Given the description of an element on the screen output the (x, y) to click on. 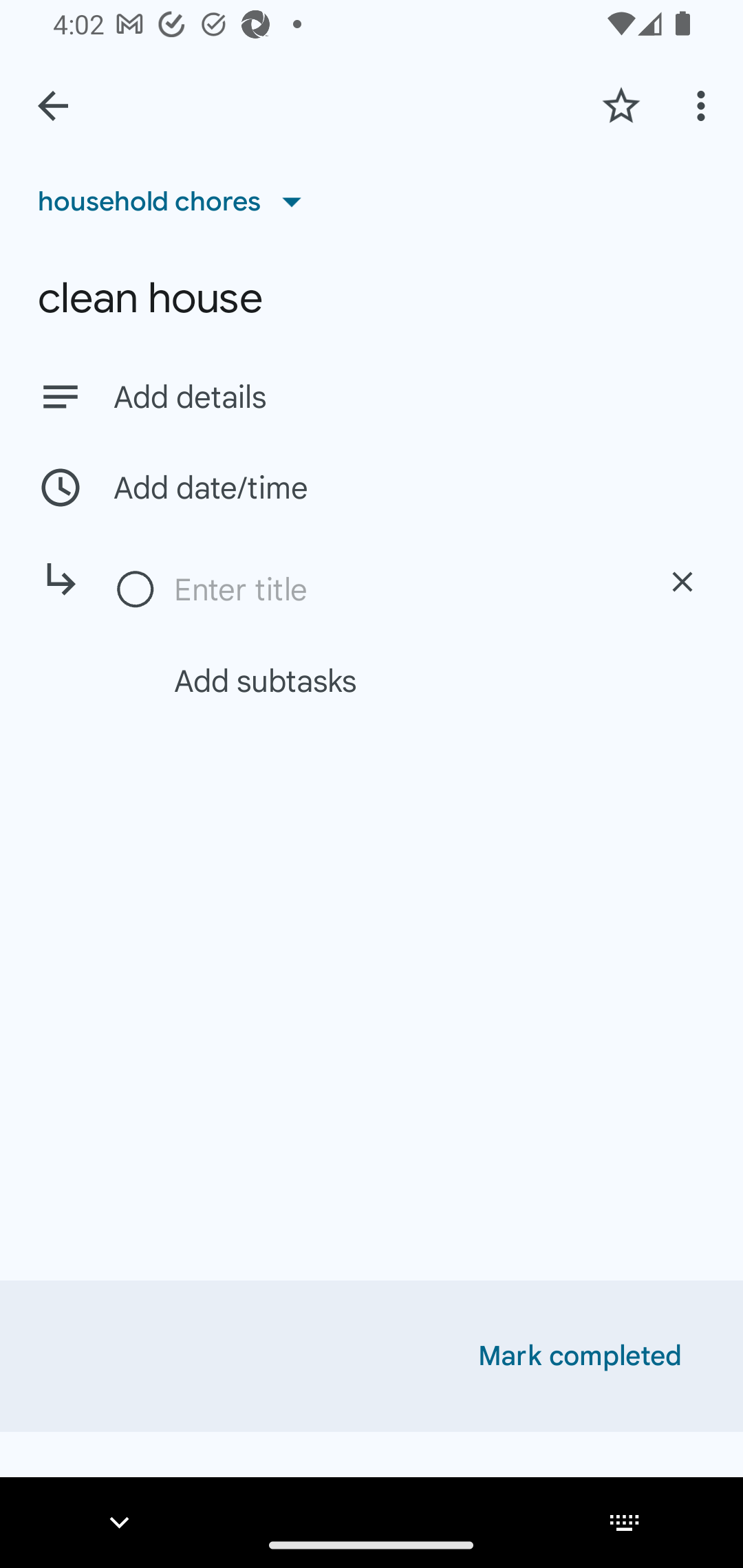
Back (53, 105)
Add star (620, 105)
More options (704, 105)
clean house (371, 298)
Add details (371, 396)
Add details (409, 397)
Add date/time (371, 487)
Enter title (401, 589)
Delete subtask (682, 581)
Mark as complete (136, 590)
Add subtasks (394, 680)
Mark completed (580, 1355)
